Given the description of an element on the screen output the (x, y) to click on. 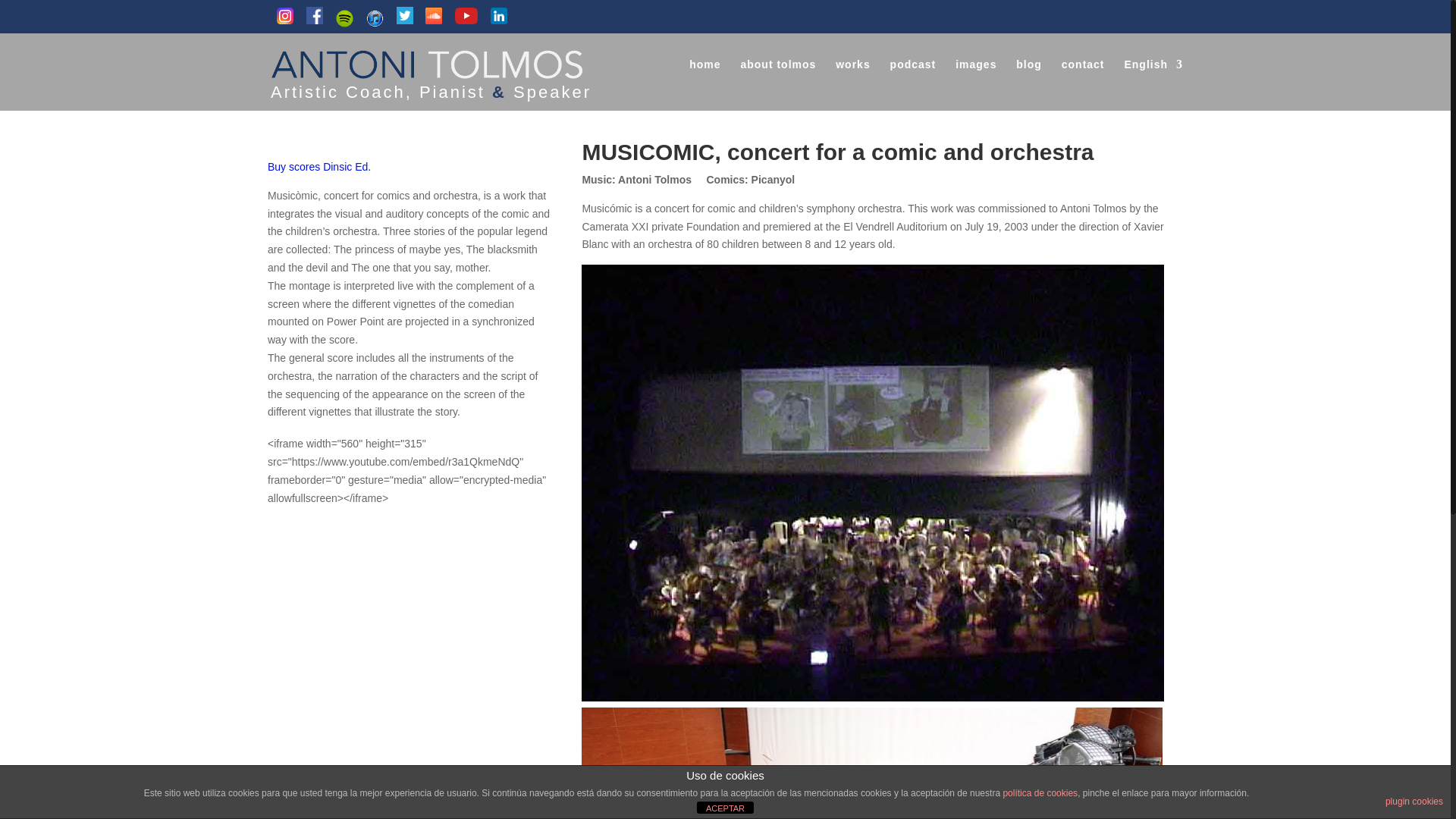
Buy scores Dinsic Ed. (319, 166)
English (1153, 76)
about tolmos (777, 76)
contact (1083, 76)
podcast (912, 76)
English (1153, 76)
works (852, 76)
images (975, 76)
